Given the description of an element on the screen output the (x, y) to click on. 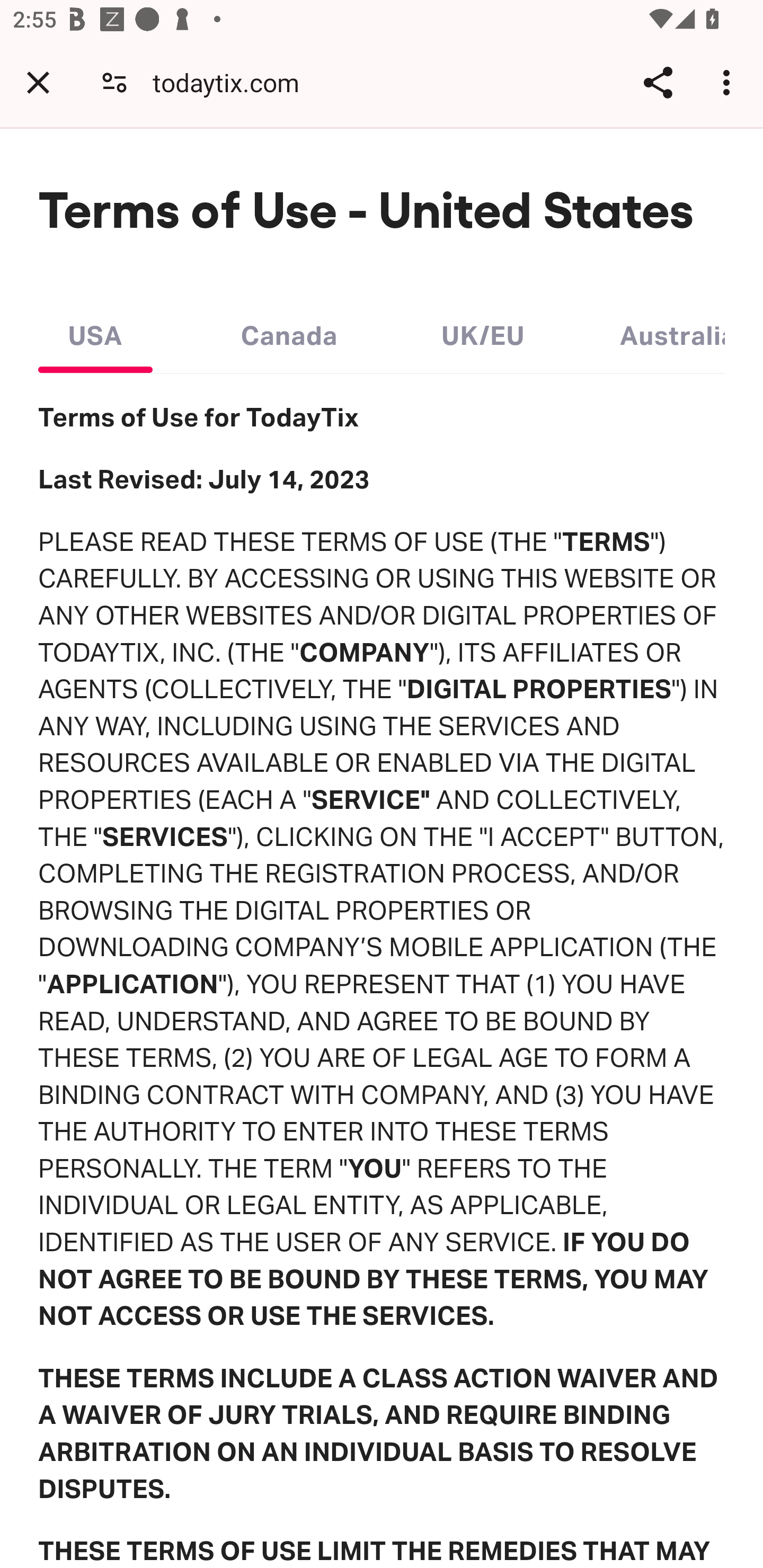
Close tab (38, 82)
Share (657, 82)
Customize and control Google Chrome (729, 82)
Connection is secure (114, 81)
todaytix.com (232, 81)
USA (95, 330)
Canada (288, 330)
UK/EU (482, 330)
Australia (671, 330)
